Given the description of an element on the screen output the (x, y) to click on. 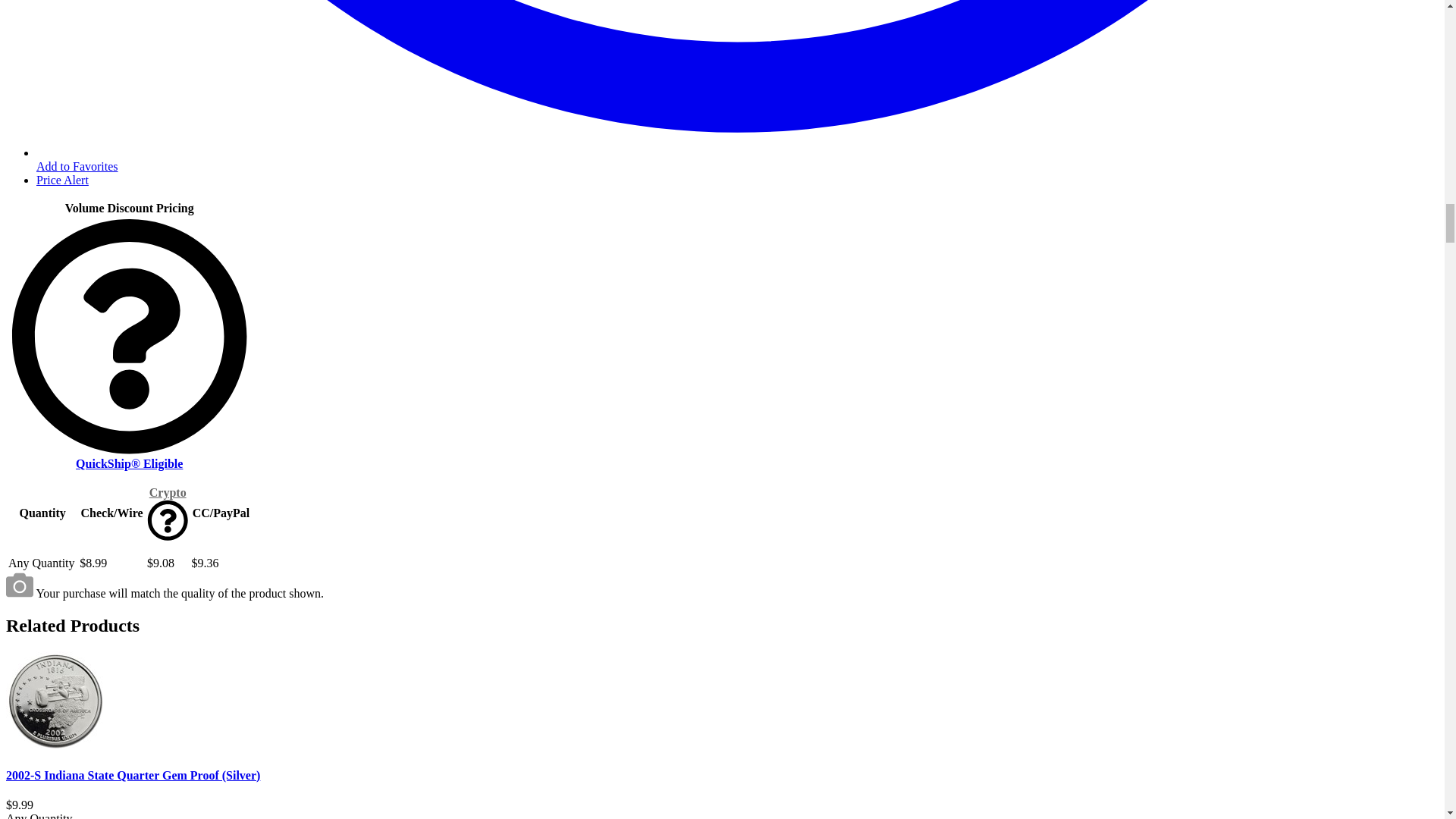
Price Alert (62, 179)
BitPay and Cryptocurrencies (167, 492)
